Given the description of an element on the screen output the (x, y) to click on. 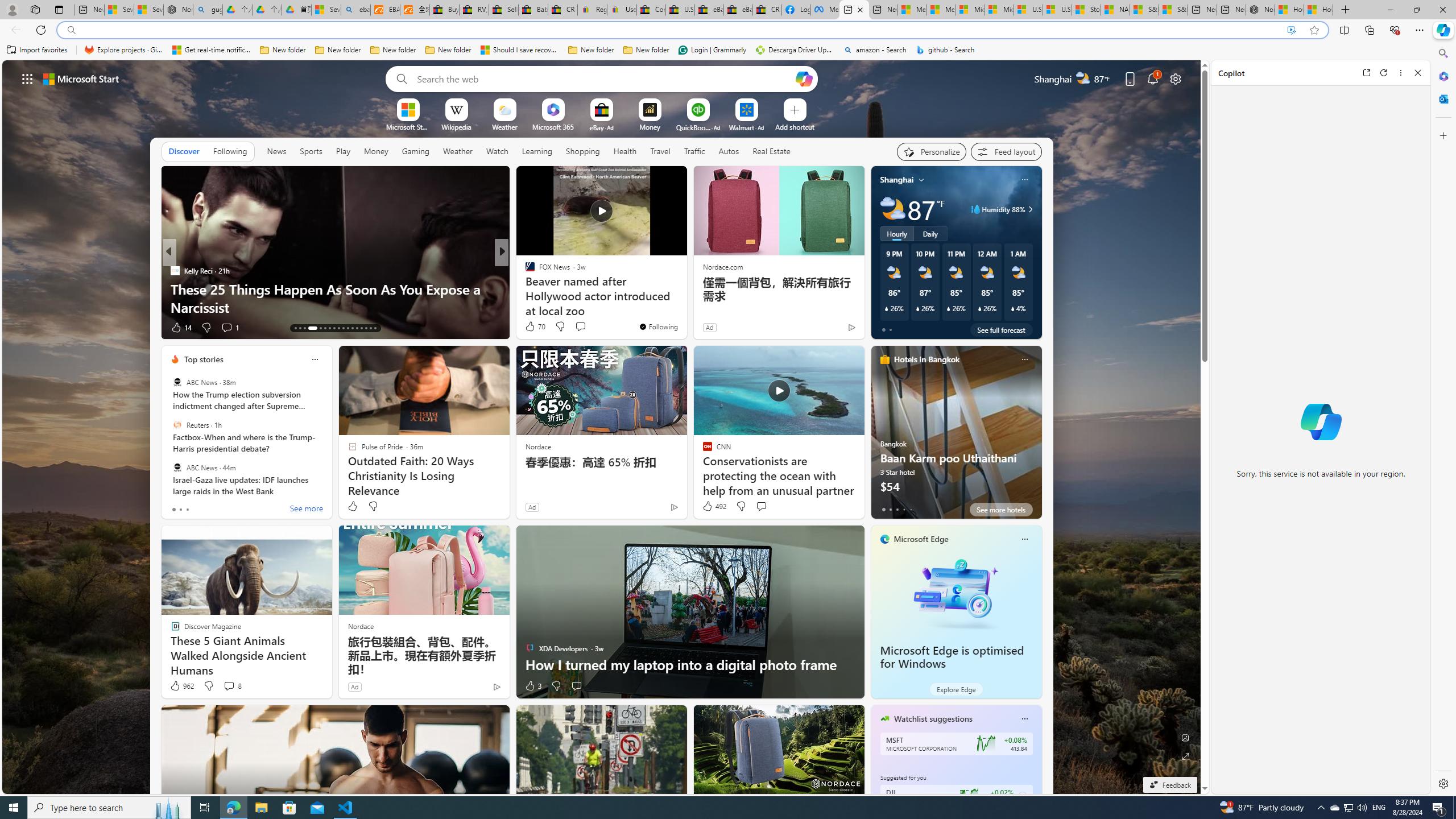
SheBudgets (524, 288)
AutomationID: tab-20 (333, 328)
Expand background (1185, 756)
Shanghai (896, 179)
Partly cloudy (892, 208)
Is It Better to Work Out with More Weight or More Reps? (684, 298)
View comments 8 Comment (232, 685)
2 hours of Extreme Shark Encounters (684, 307)
Nordace.com (722, 266)
View comments 167 Comment (576, 327)
